Given the description of an element on the screen output the (x, y) to click on. 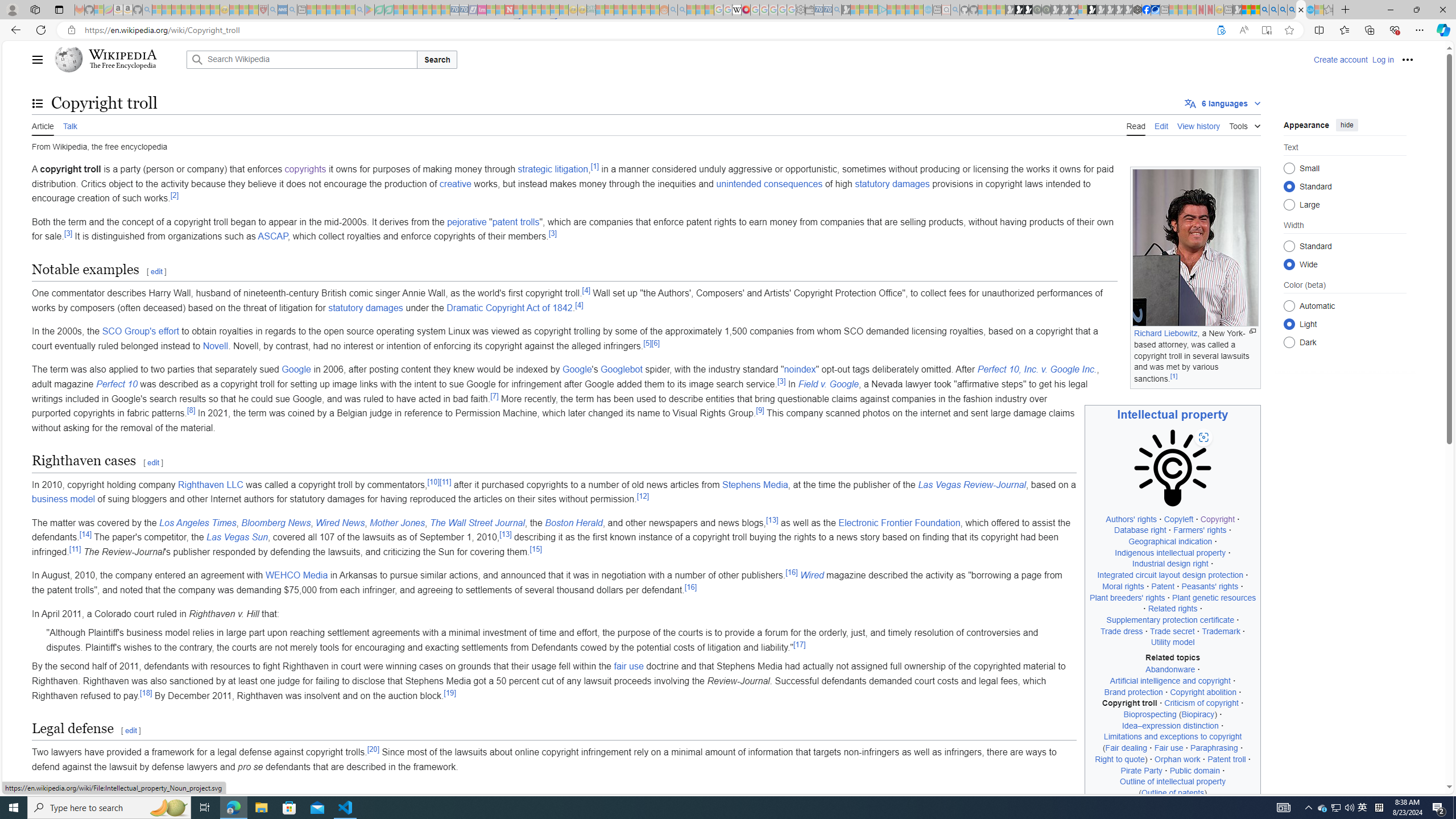
Log in (1382, 58)
Jobs - lastminute.com Investor Portal - Sleeping (482, 9)
Field v. Google (828, 384)
strategic litigation (552, 169)
Electronic Frontier Foundation (899, 522)
AirNow.gov (1154, 9)
